Given the description of an element on the screen output the (x, y) to click on. 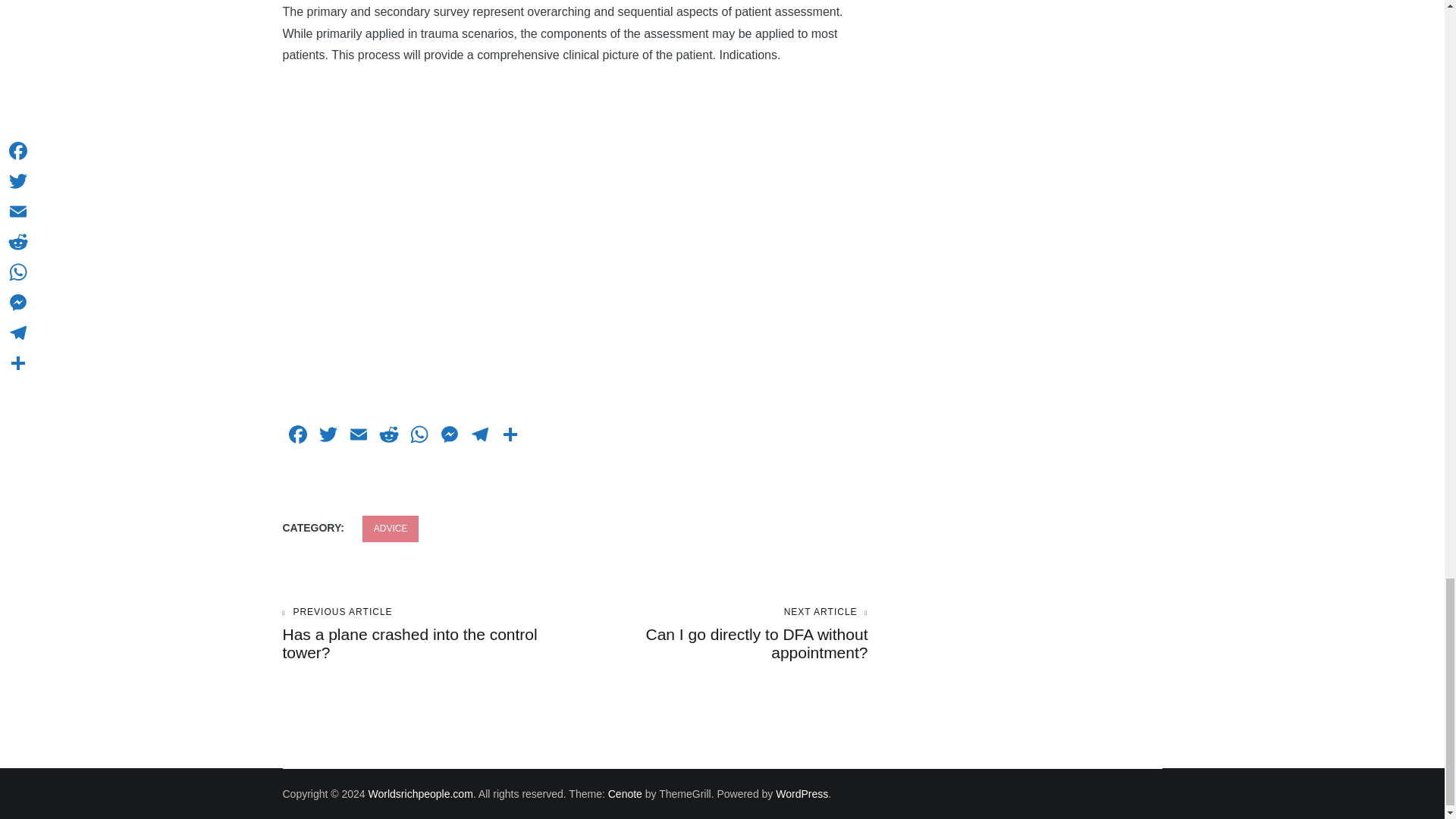
Worldsrichpeople.com (420, 793)
Email (357, 436)
WhatsApp (418, 436)
Reddit (428, 633)
Telegram (387, 436)
Messenger (479, 436)
ADVICE (448, 436)
Telegram (390, 528)
Reddit (479, 436)
Facebook (387, 436)
Twitter (297, 436)
Facebook (327, 436)
Twitter (297, 436)
